Given the description of an element on the screen output the (x, y) to click on. 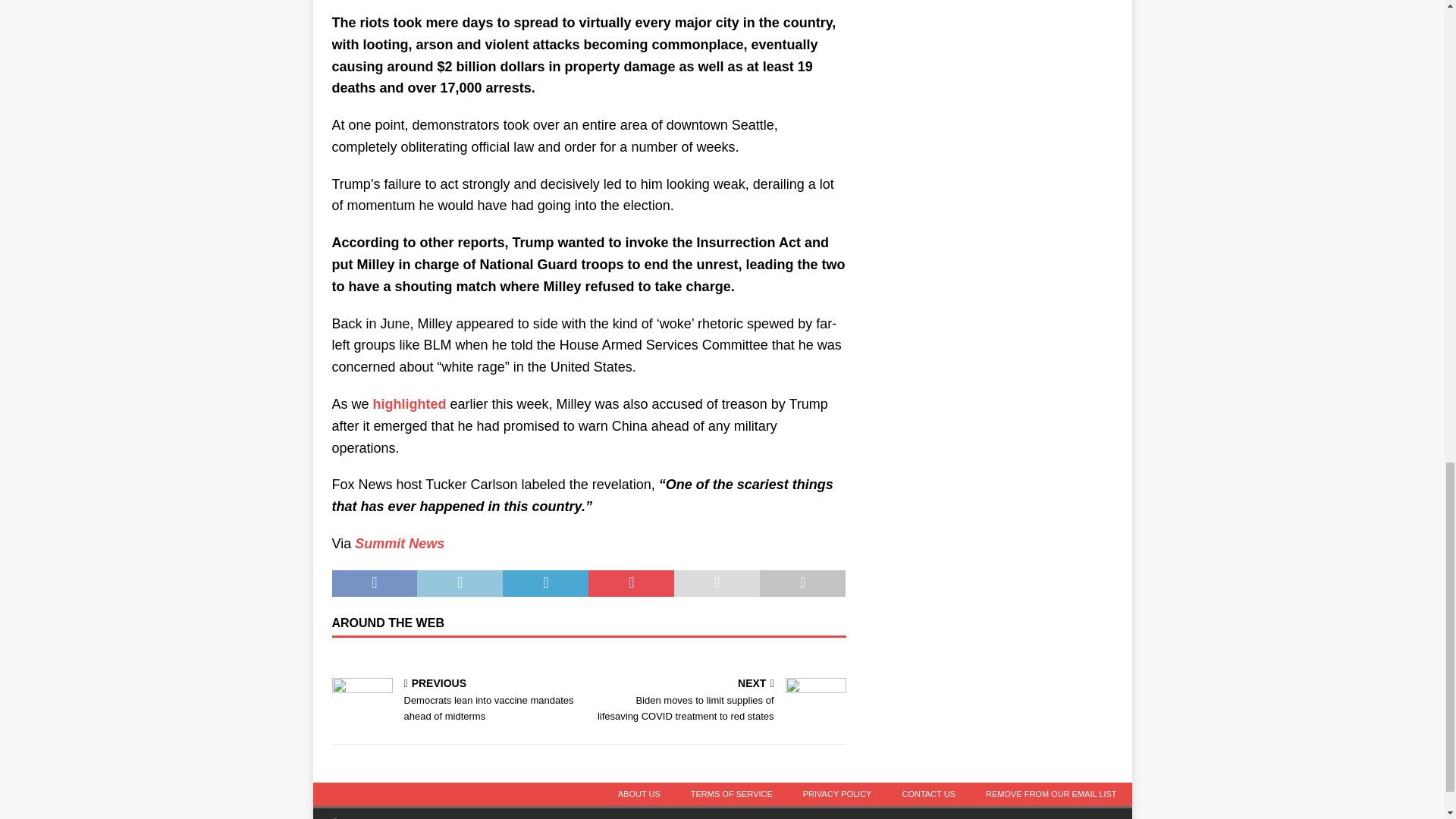
Summit News (399, 543)
highlighted (409, 403)
